Given the description of an element on the screen output the (x, y) to click on. 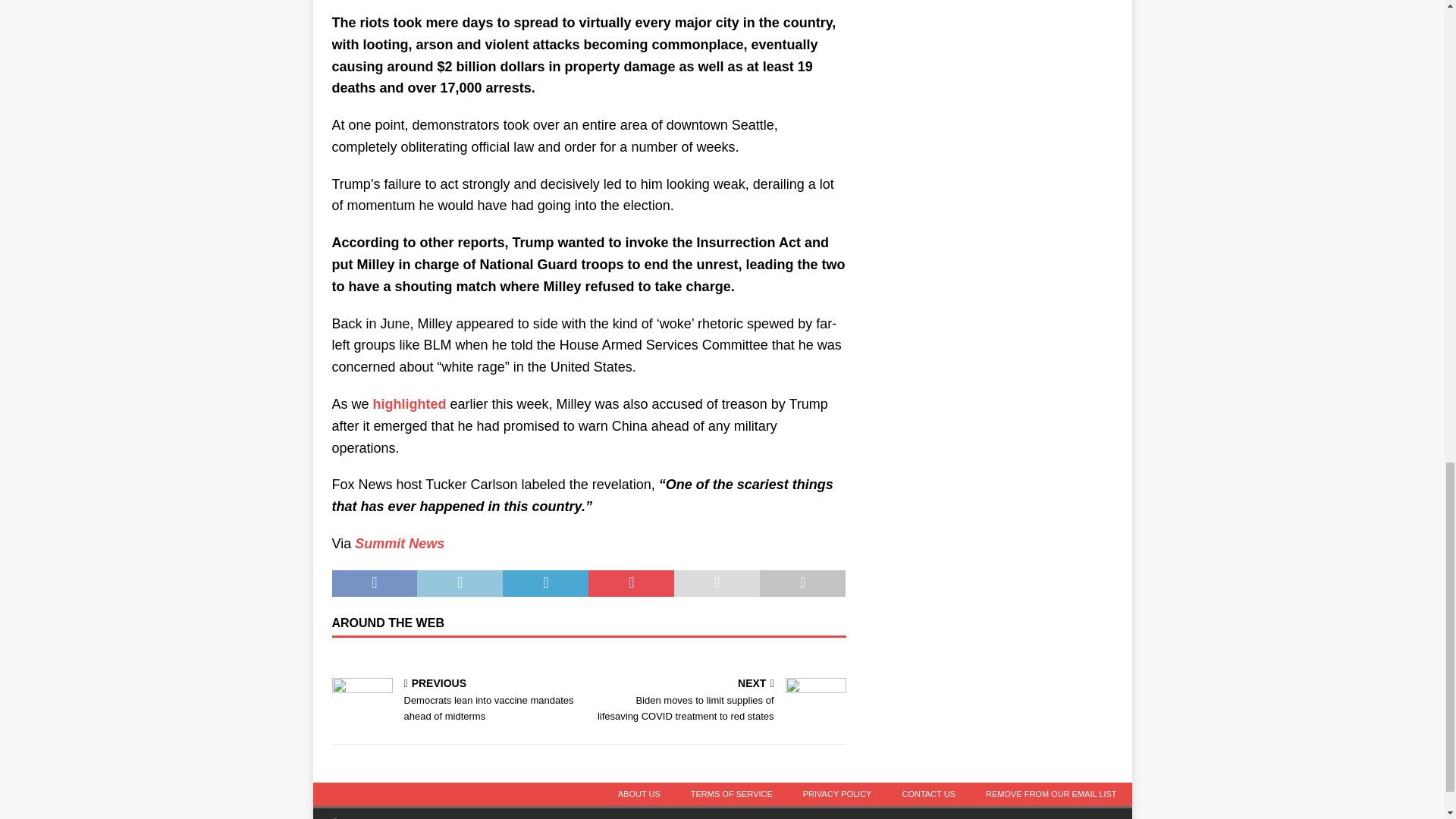
Summit News (399, 543)
highlighted (409, 403)
